Given the description of an element on the screen output the (x, y) to click on. 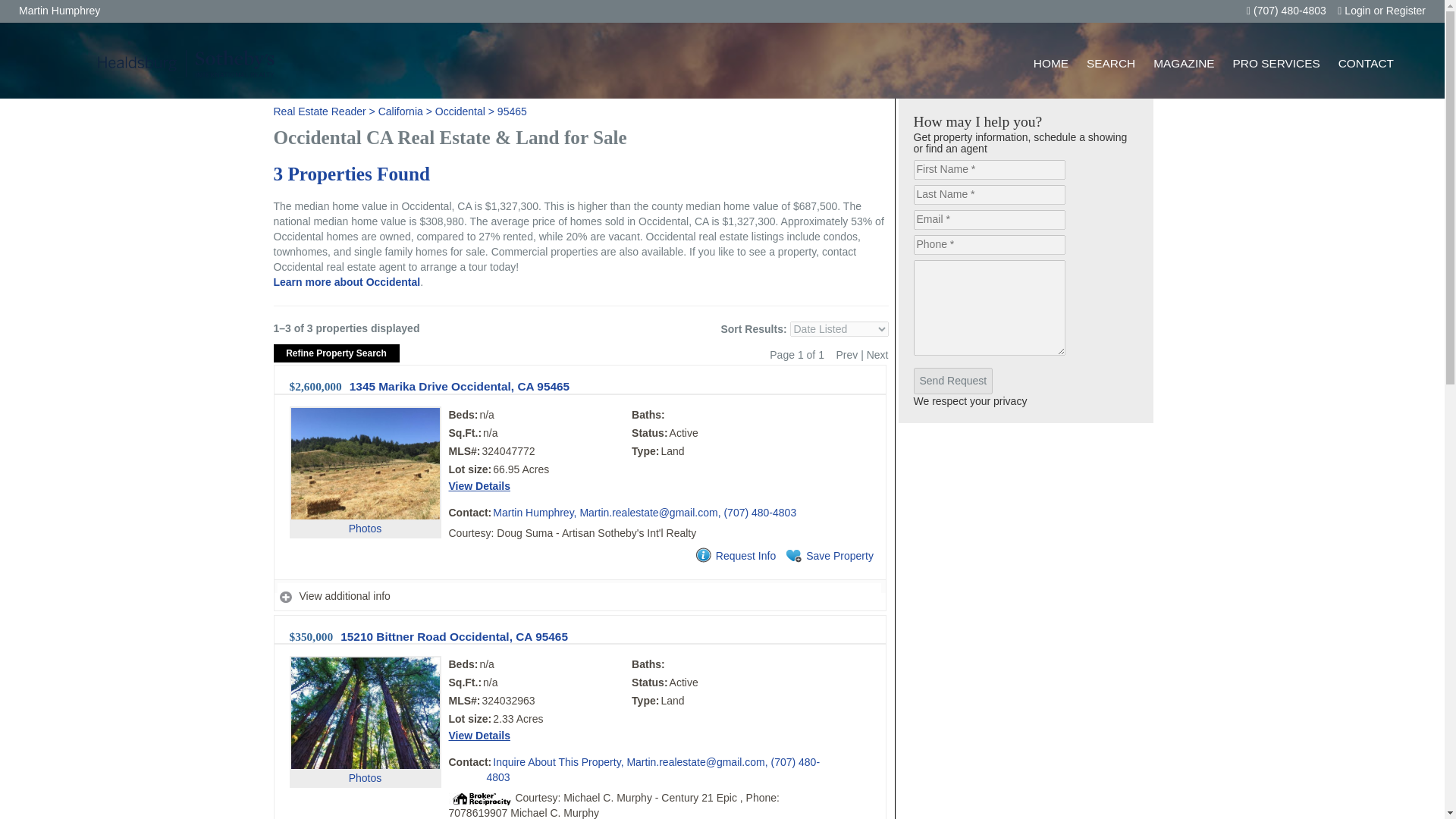
Find the perfect home, schedule showing times and more! (1110, 63)
1345 Marika Drive Occidental, CA 95465 (459, 386)
View Details (479, 485)
PRO SERVICES (1276, 63)
View Details (479, 735)
Login or Register (1381, 10)
Save Property (828, 556)
15210 Bittner Road Occidental, CA 95465 (453, 635)
Questions or comments?  Email, call, fax or write us. (1366, 63)
MAGAZINE (1183, 63)
